Given the description of an element on the screen output the (x, y) to click on. 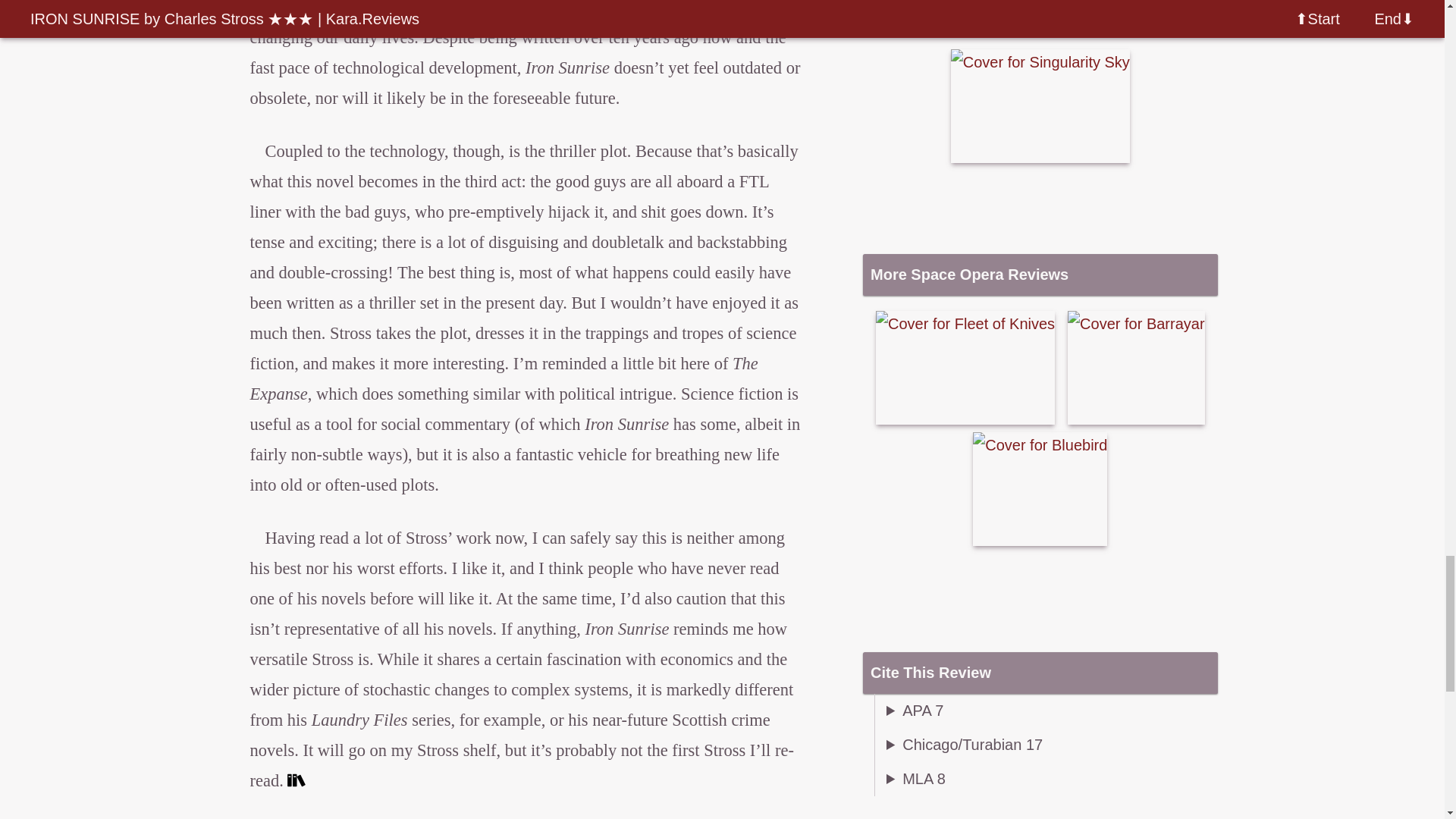
Singularity Sky by Charles Stross (1039, 105)
Barrayar by Lois McMaster Bujold (1136, 368)
Bluebird by Ciel Pierlot (1039, 489)
Fleet of Knives by Gareth L. Powell (965, 368)
